Given the description of an element on the screen output the (x, y) to click on. 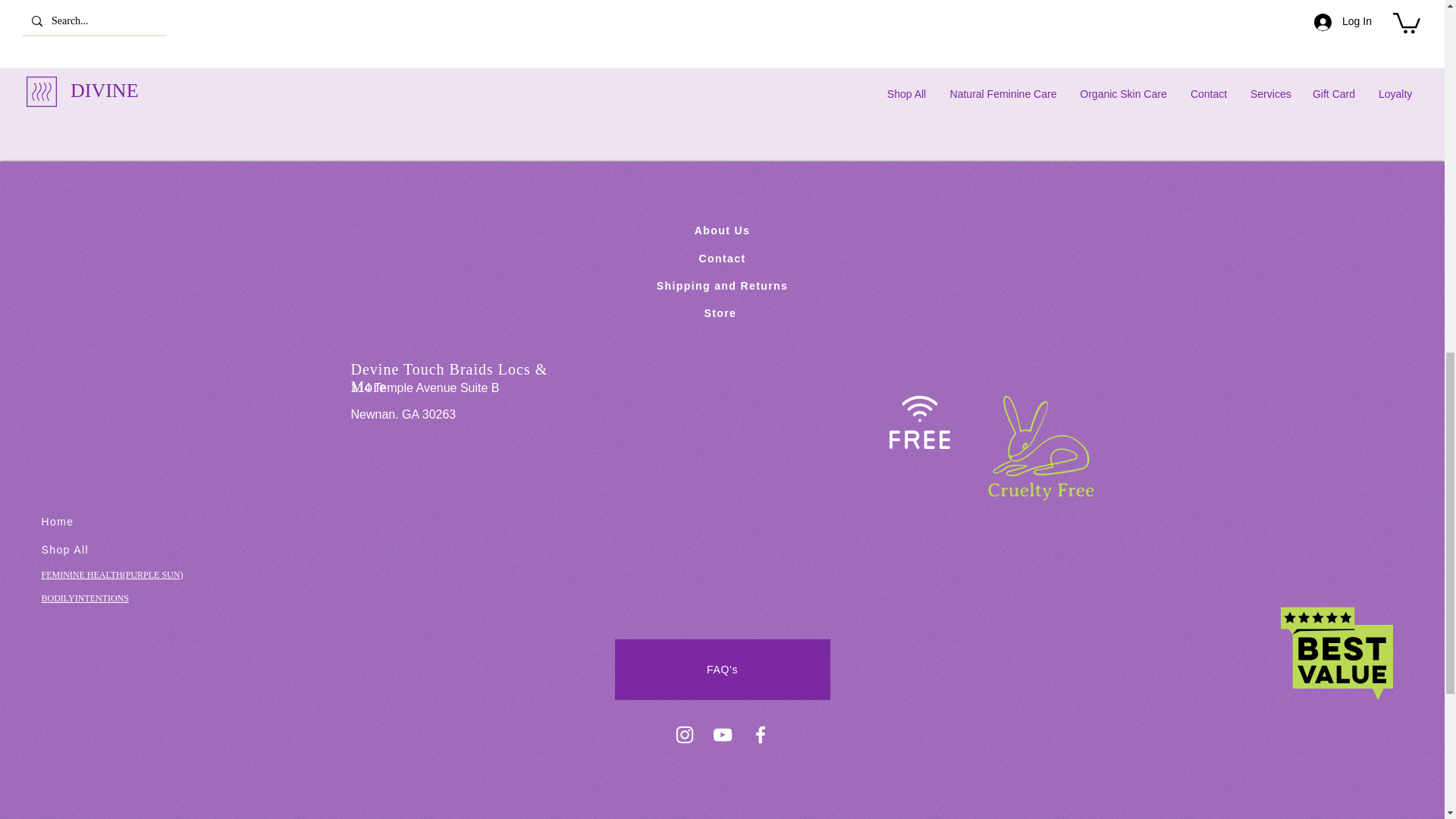
INTENTIONS (102, 597)
BODILY (57, 597)
FAQ's (721, 669)
Store  (721, 313)
Shop All (64, 549)
Contact (721, 258)
About Us (721, 230)
Shipping and Returns (721, 285)
Home (57, 521)
